Given the description of an element on the screen output the (x, y) to click on. 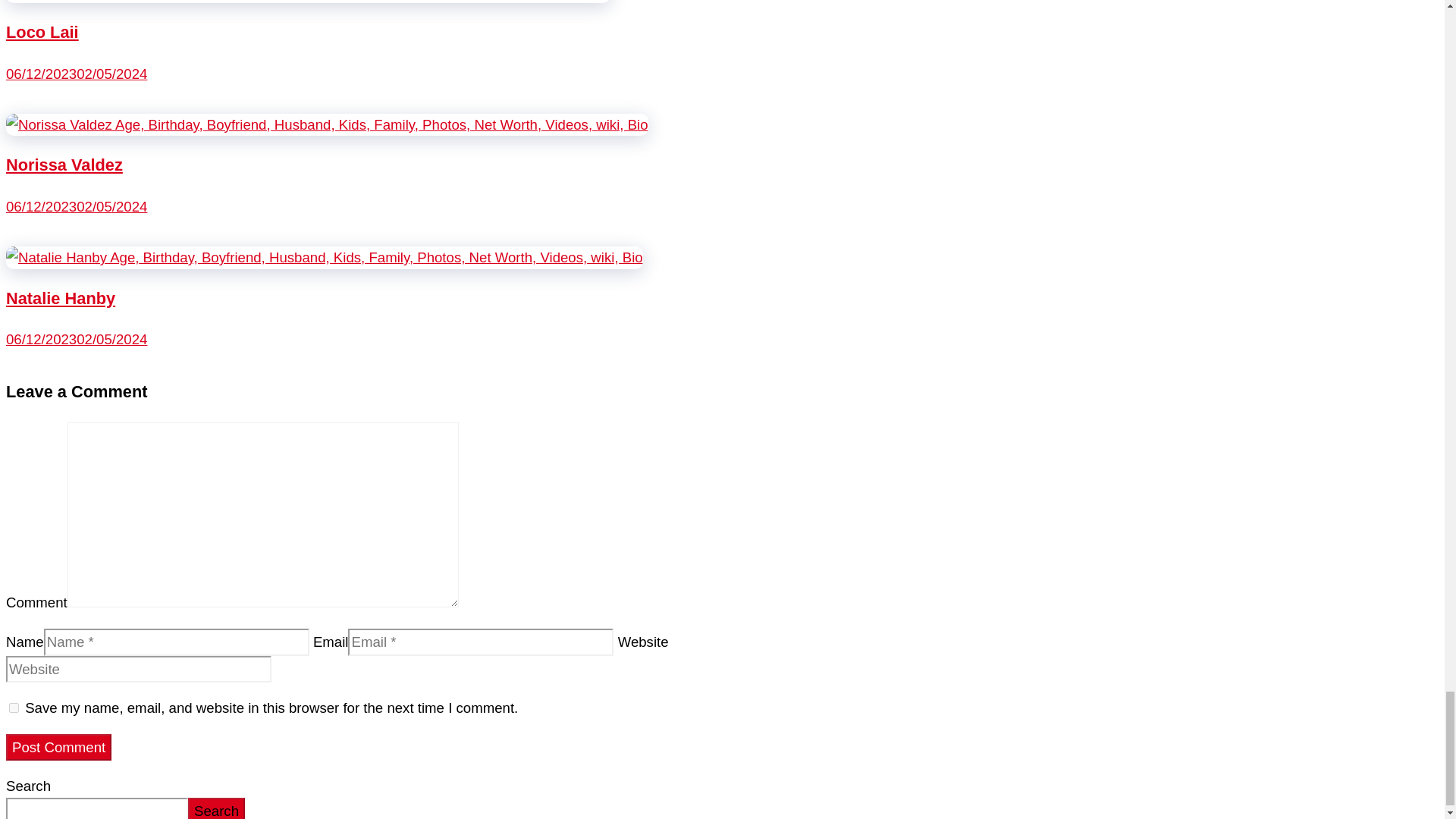
Natalie Hanby (324, 257)
3:56 am (76, 206)
Norissa Valdez (326, 124)
4:11 am (76, 73)
Post Comment (58, 747)
Loco Laii (41, 31)
yes (13, 707)
3:42 am (76, 339)
Norissa Valdez (63, 164)
